Given the description of an element on the screen output the (x, y) to click on. 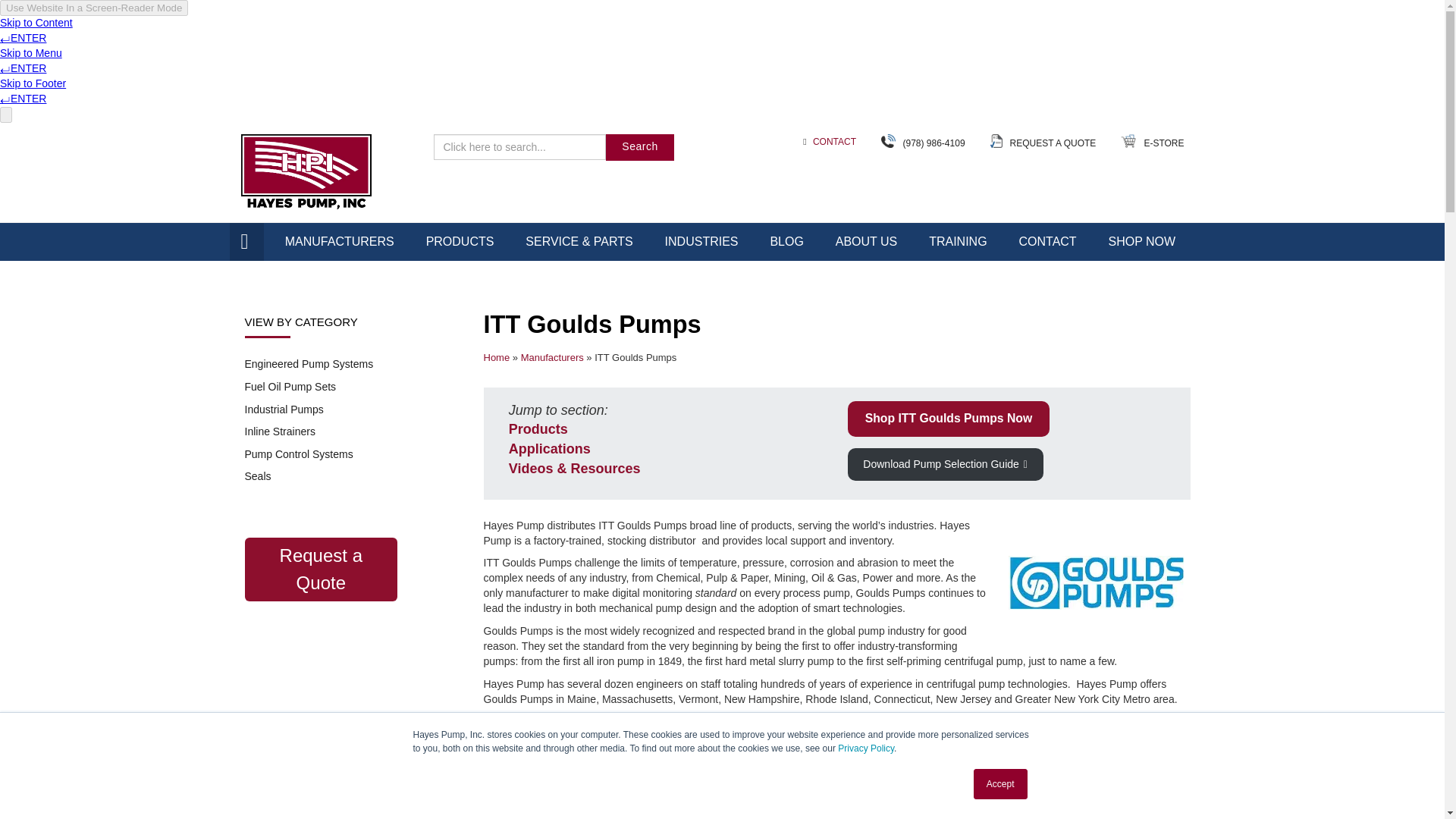
PRODUCTS (459, 241)
Call Hayes Pump (932, 141)
CONTACT (834, 141)
Accept (1000, 784)
REQUEST A QUOTE (1053, 141)
Request a Quote (320, 569)
Click here to search... (520, 146)
MANUFACTURERS (339, 241)
Search (639, 147)
Privacy Policy (865, 747)
E-STORE (1162, 141)
Hayes Pump (306, 174)
